Given the description of an element on the screen output the (x, y) to click on. 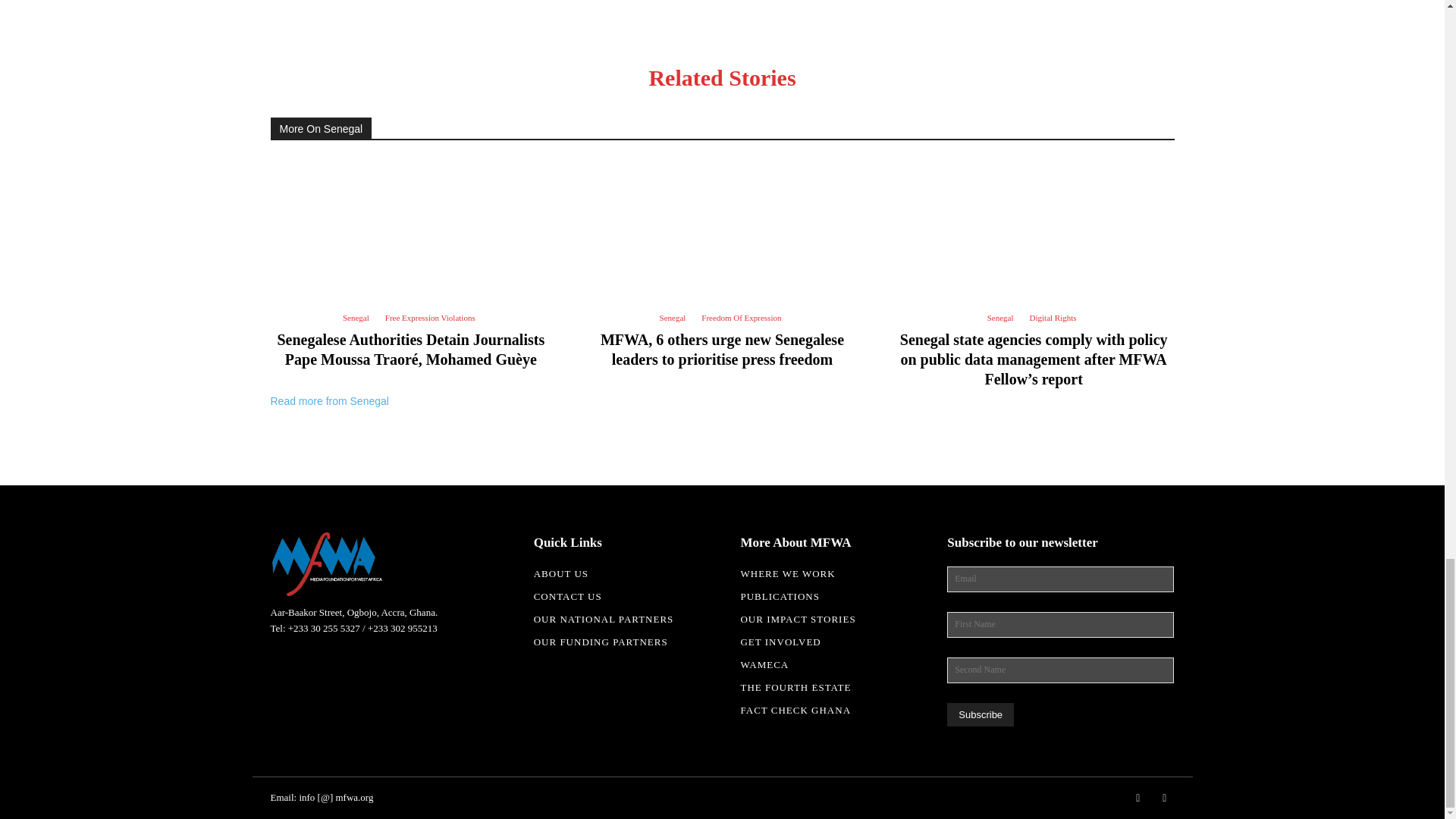
Subscribe (980, 714)
